Given the description of an element on the screen output the (x, y) to click on. 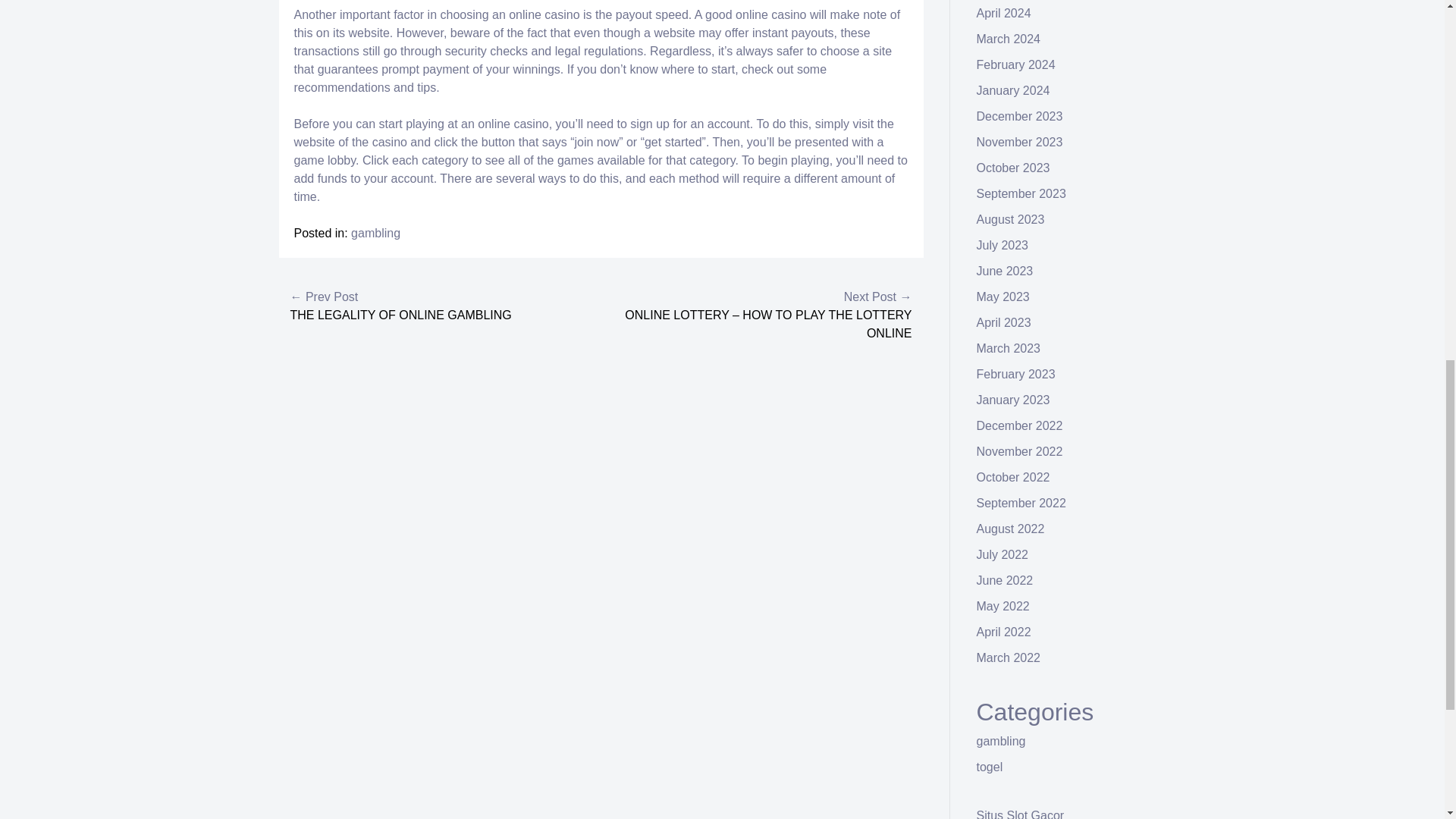
January 2024 (1012, 90)
February 2023 (1015, 373)
gambling (375, 232)
September 2023 (1020, 193)
March 2023 (1008, 348)
February 2024 (1015, 64)
August 2023 (1010, 219)
June 2023 (1004, 270)
April 2023 (1003, 322)
November 2022 (1019, 451)
November 2023 (1019, 141)
January 2023 (1012, 399)
December 2022 (1019, 425)
December 2023 (1019, 115)
July 2023 (1002, 245)
